Given the description of an element on the screen output the (x, y) to click on. 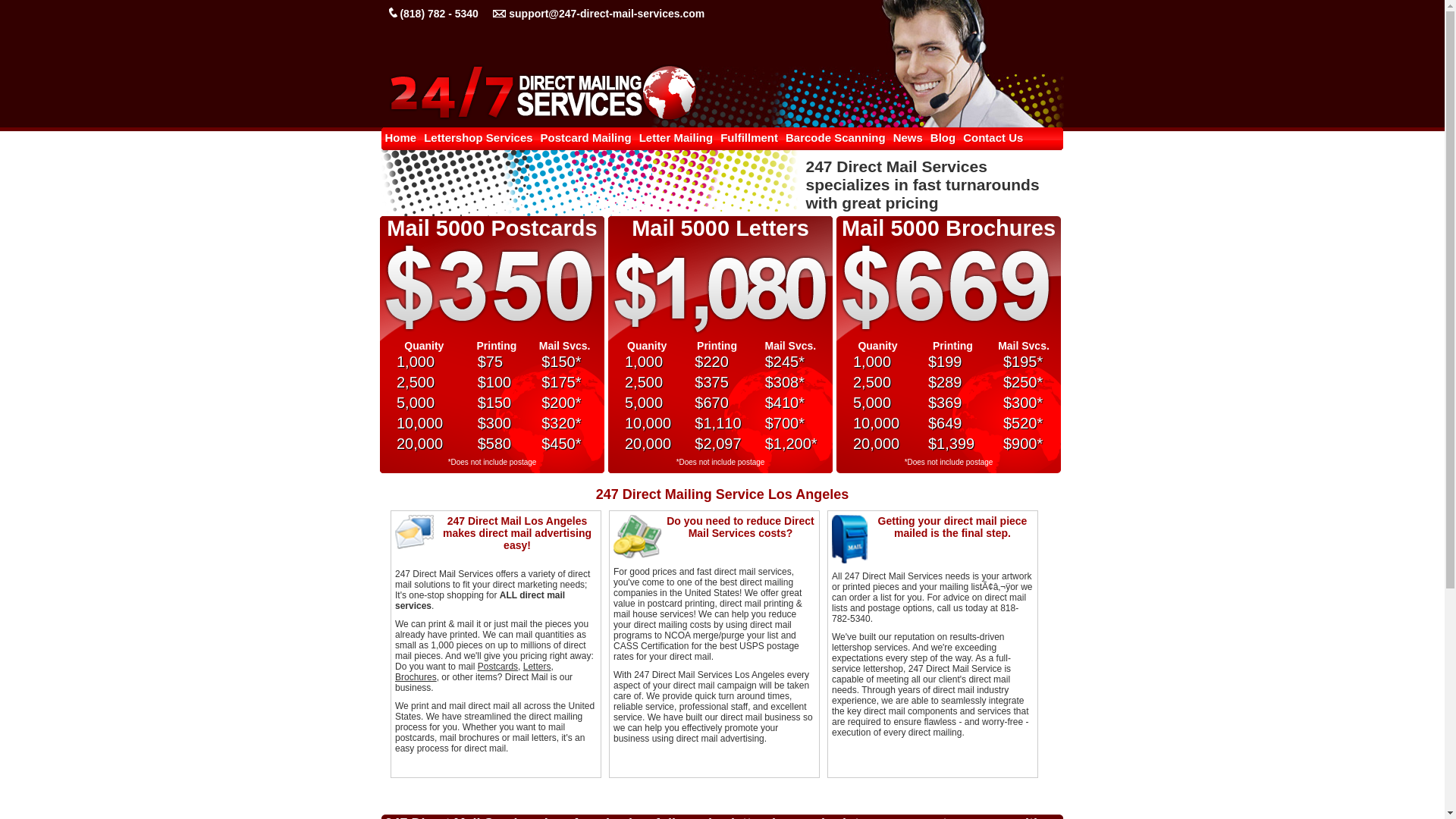
Letters Element type: text (537, 666)
Brochures Element type: text (415, 676)
Fulfillment Element type: text (749, 137)
Contact Us Element type: text (992, 137)
Barcode Scanning Element type: text (835, 137)
Postcard Mailing Element type: text (585, 137)
Blog Element type: text (942, 137)
Letter Mailing Element type: text (676, 137)
Postcards Element type: text (497, 666)
support@247-direct-mail-services.com Element type: text (606, 13)
Home Element type: text (401, 137)
Lettershop Services Element type: text (477, 137)
direct-mail-advertising Element type: hover (721, 92)
News Element type: text (907, 137)
